Given the description of an element on the screen output the (x, y) to click on. 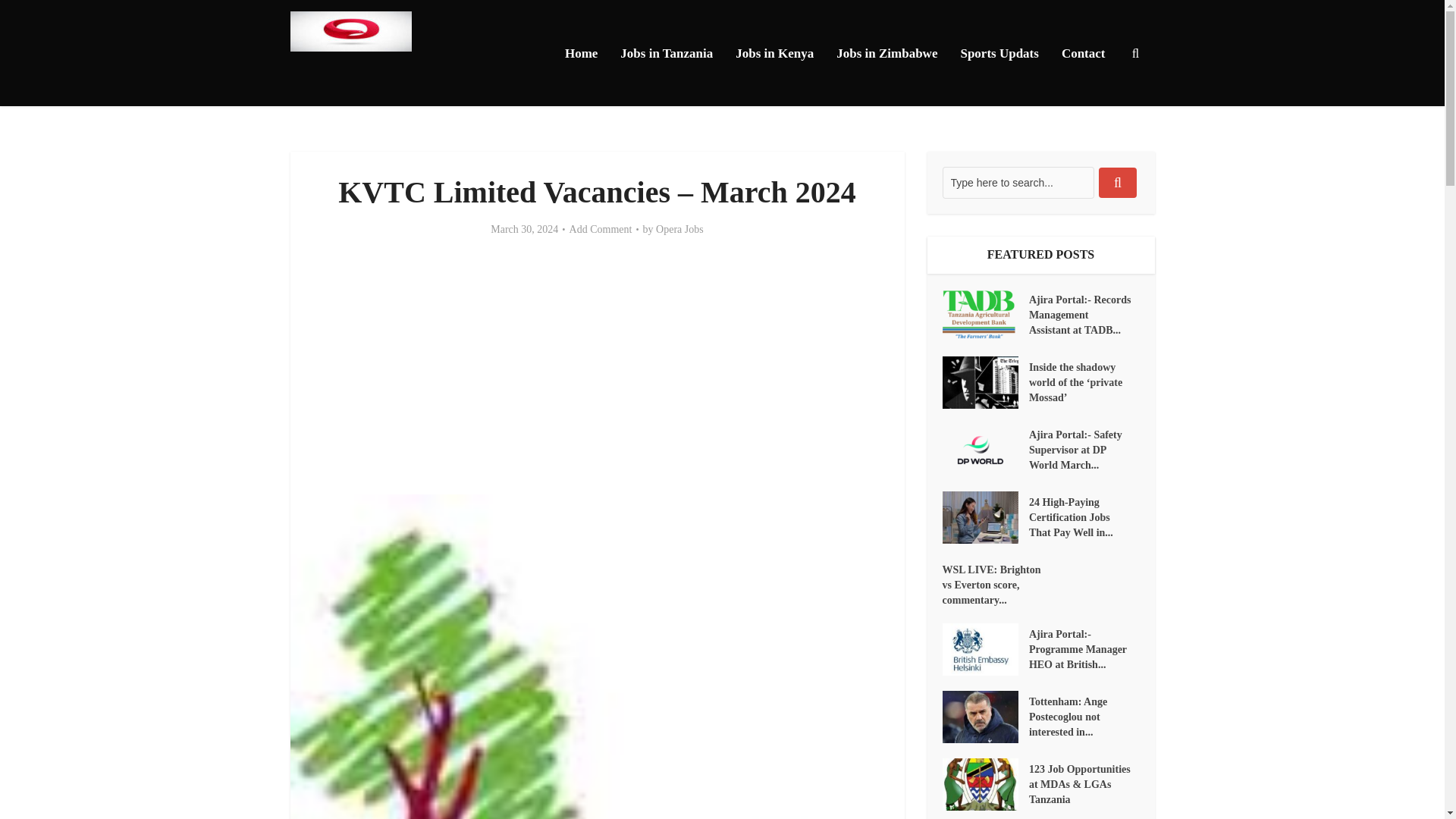
Jobs in Tanzania (665, 53)
Add Comment (600, 229)
Opera Jobs (679, 229)
Type here to search... (1017, 183)
Type here to search... (1017, 183)
Sports Updats (999, 53)
Jobs in Zimbabwe (887, 53)
Jobs in Kenya (774, 53)
Advertisement (597, 365)
